Given the description of an element on the screen output the (x, y) to click on. 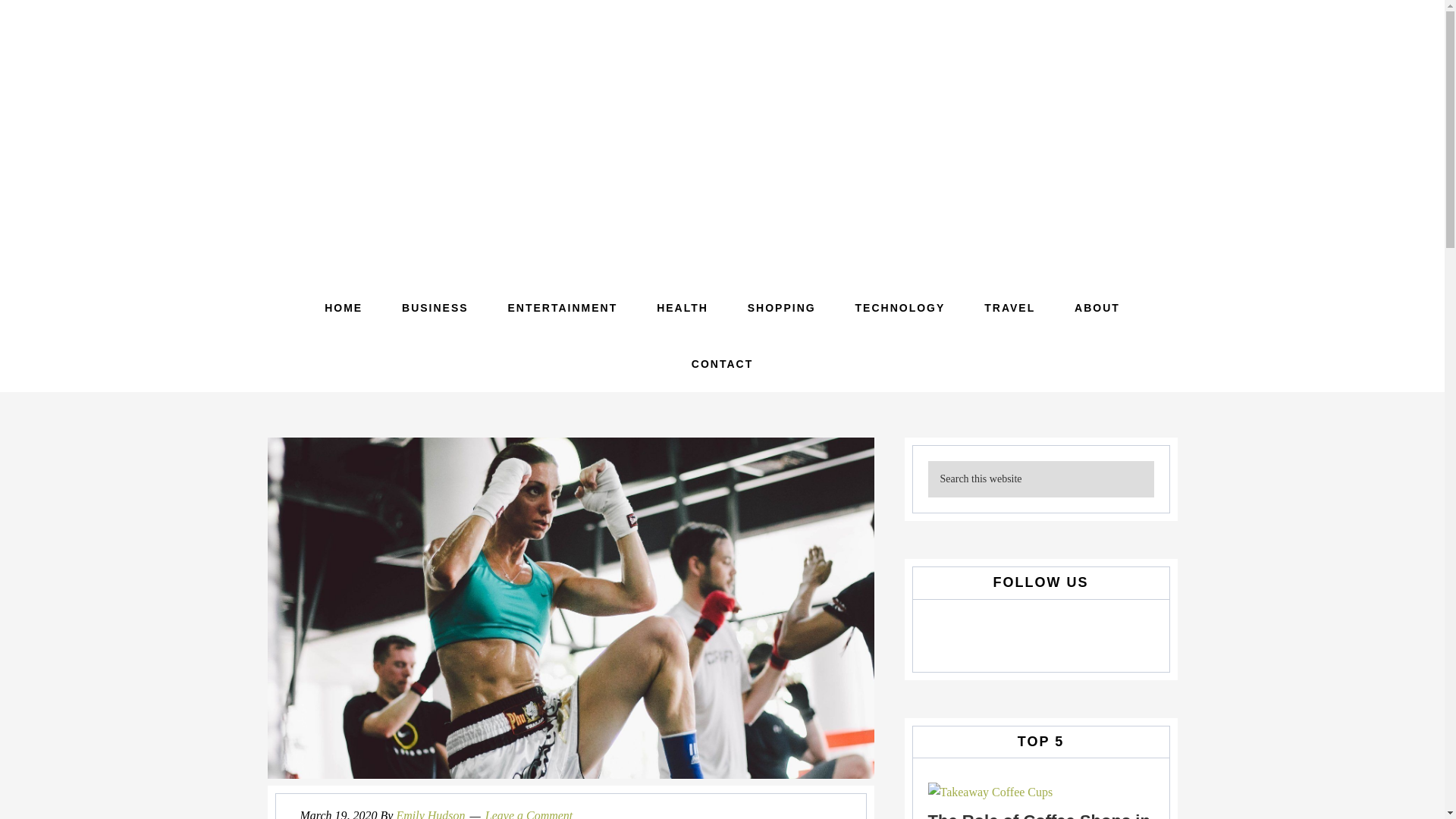
TRAVEL (1009, 307)
ENTERTAINMENT (562, 307)
TECHNOLOGY (900, 307)
Emily Hudson (430, 814)
BUSINESS (435, 307)
QUOTES BEST (722, 136)
HEALTH (682, 307)
HOME (342, 307)
